Given the description of an element on the screen output the (x, y) to click on. 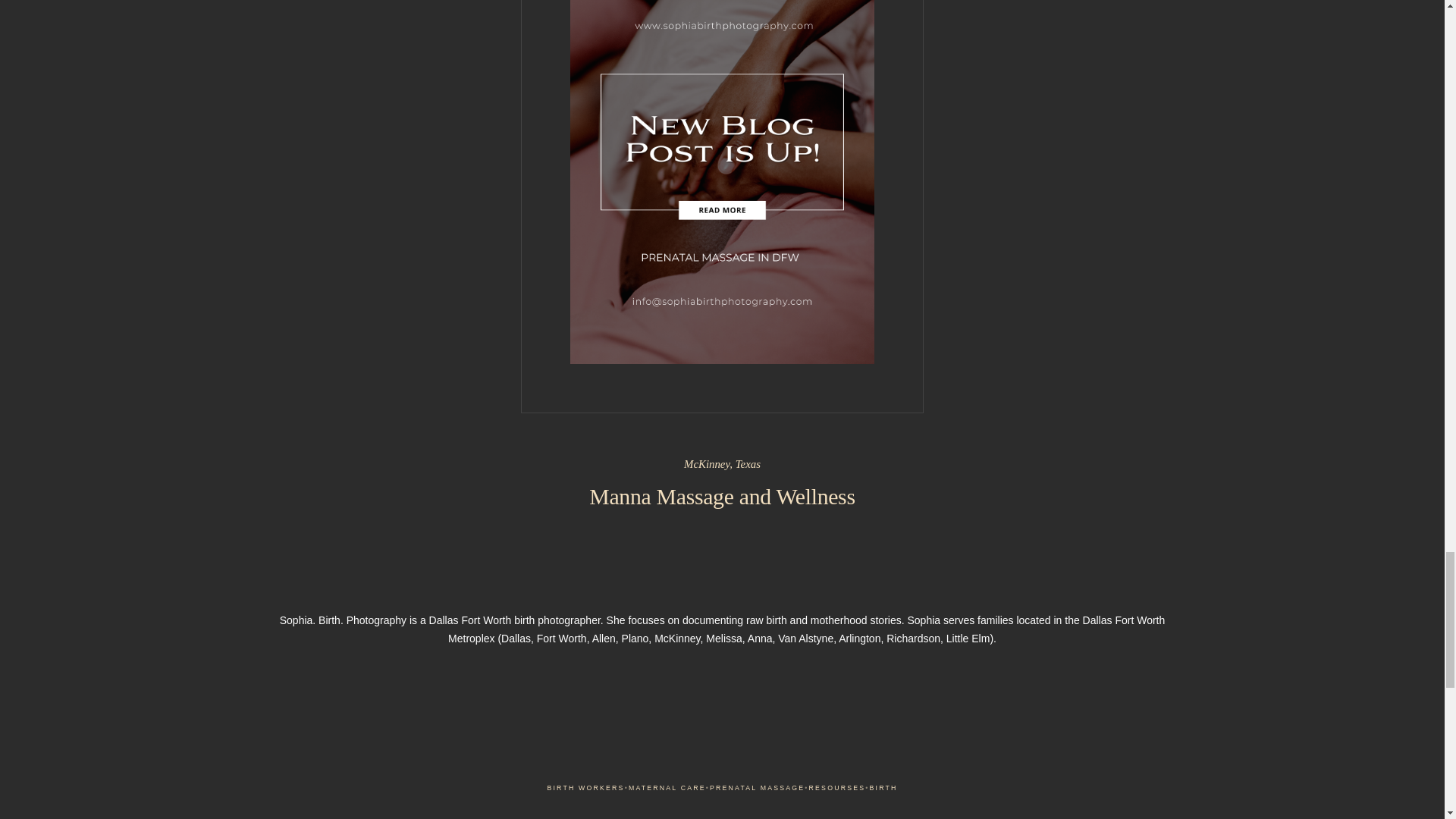
BIRTH (882, 787)
